Given the description of an element on the screen output the (x, y) to click on. 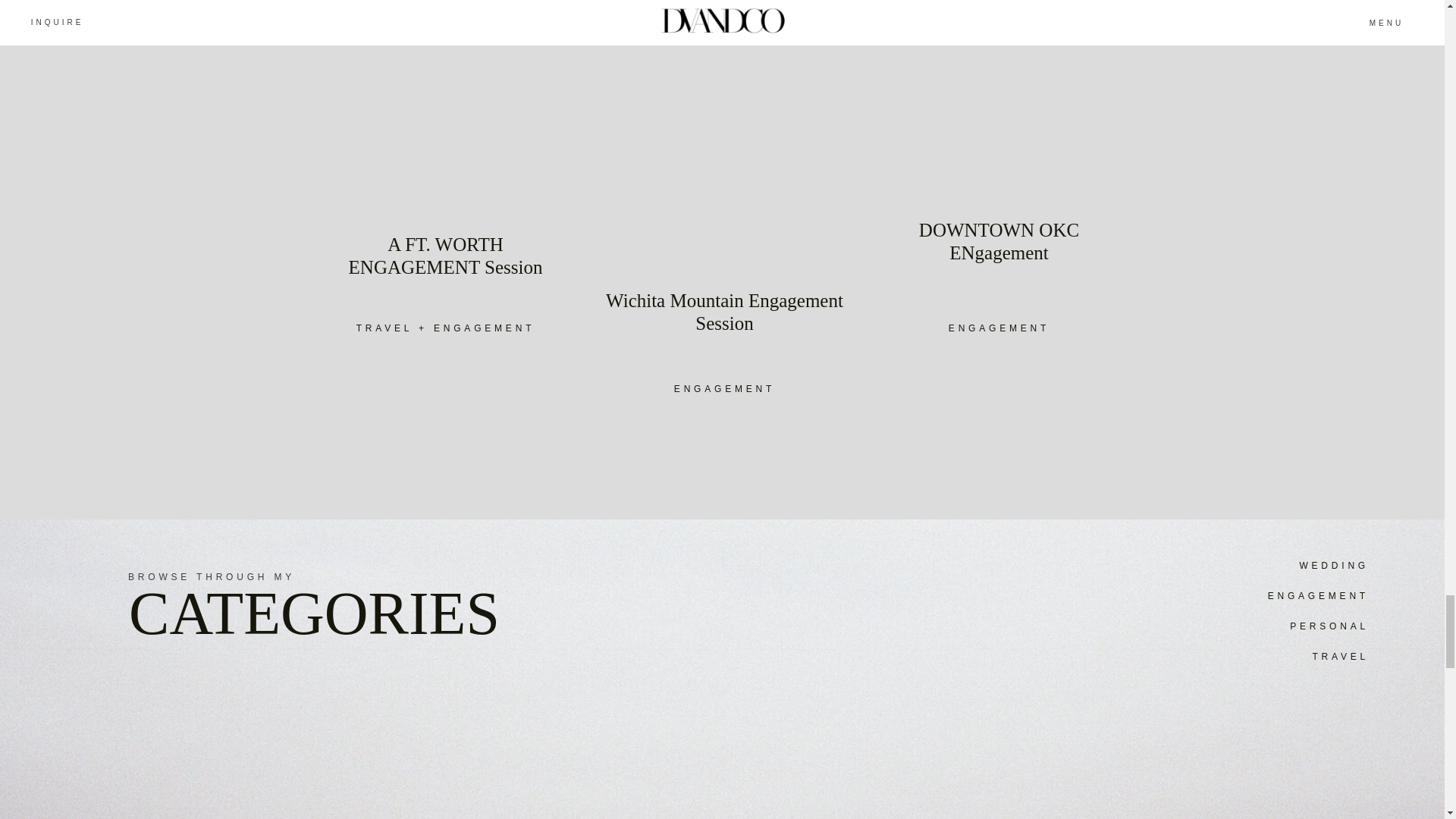
ENGAGEMENT (1244, 595)
Merrick Hollow: a Tree House Inspired Venue in Oklahoma (723, 324)
Wichita Mountain Engagement Session (723, 324)
